Given the description of an element on the screen output the (x, y) to click on. 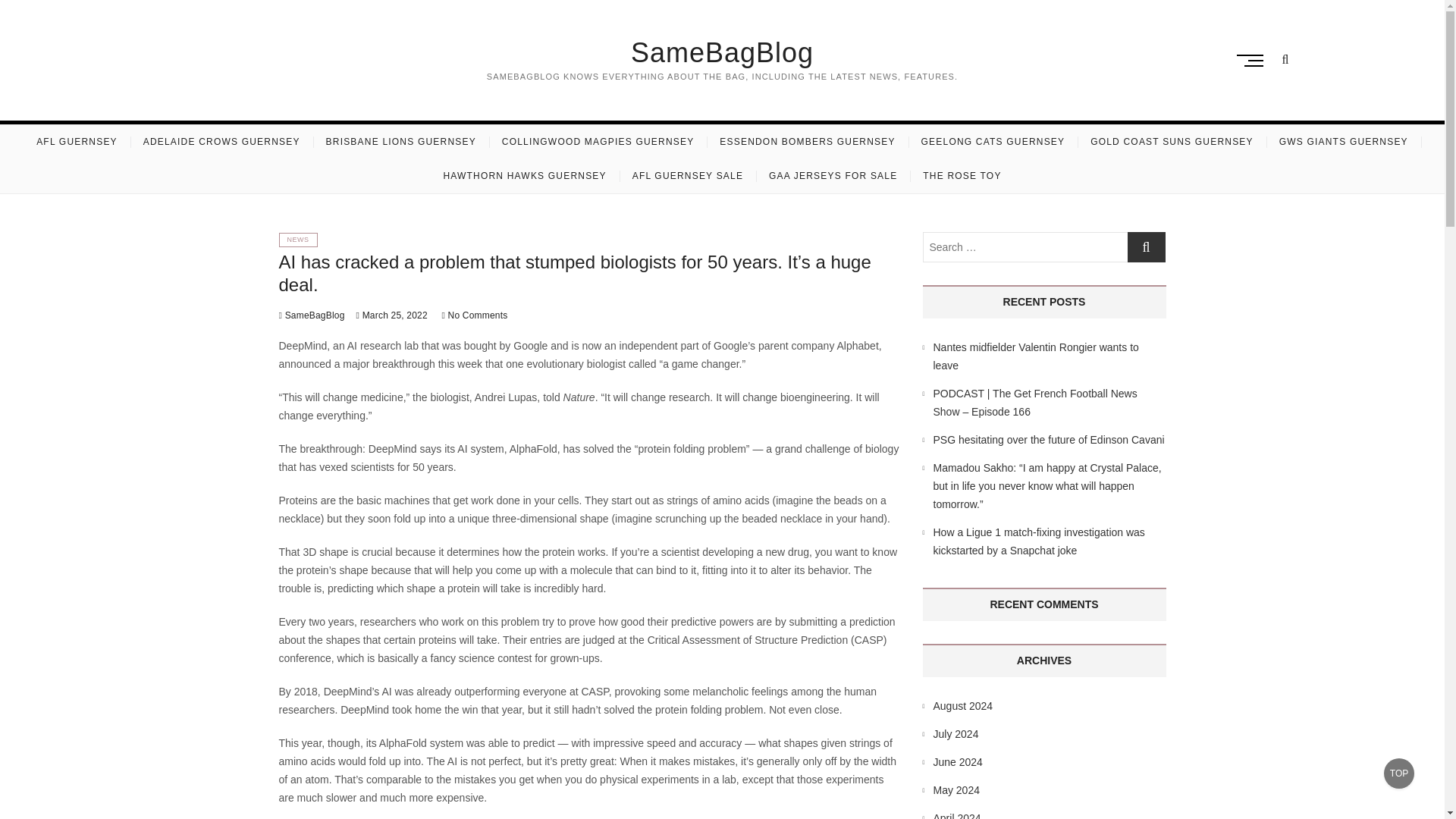
COLLINGWOOD MAGPIES GUERNSEY (598, 141)
SameBagBlog (721, 52)
ADELAIDE CROWS GUERNSEY (221, 141)
AFL GUERNSEY SALE (687, 175)
GOLD COAST SUNS GUERNSEY (1171, 141)
AFL GUERNSEY (76, 141)
ESSENDON BOMBERS GUERNSEY (806, 141)
HAWTHORN HAWKS GUERNSEY (523, 175)
SameBagBlog (721, 52)
GWS GIANTS GUERNSEY (1343, 141)
GEELONG CATS GUERNSEY (993, 141)
March 25, 2022 (392, 315)
GAA JERSEYS FOR SALE (832, 175)
BRISBANE LIONS GUERNSEY (400, 141)
THE ROSE TOY (961, 175)
